Given the description of an element on the screen output the (x, y) to click on. 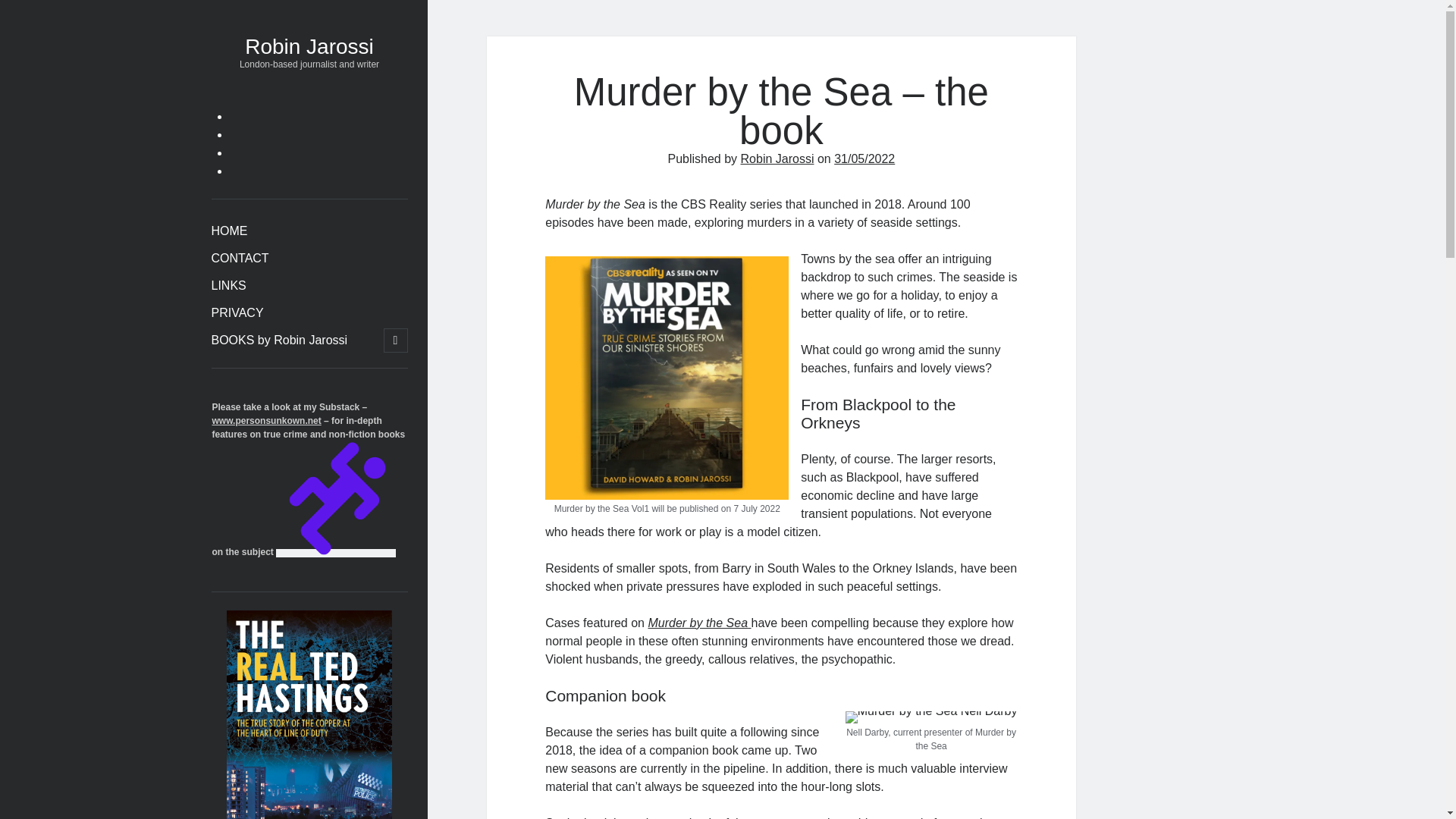
BOOKS BY ROBIN JAROSSI (867, 173)
HOME (516, 173)
www.personsunkown.net (1047, 739)
CONTACT (590, 173)
Robin Jarossi (721, 76)
PRIVACY (735, 173)
LINKS (663, 173)
